Given the description of an element on the screen output the (x, y) to click on. 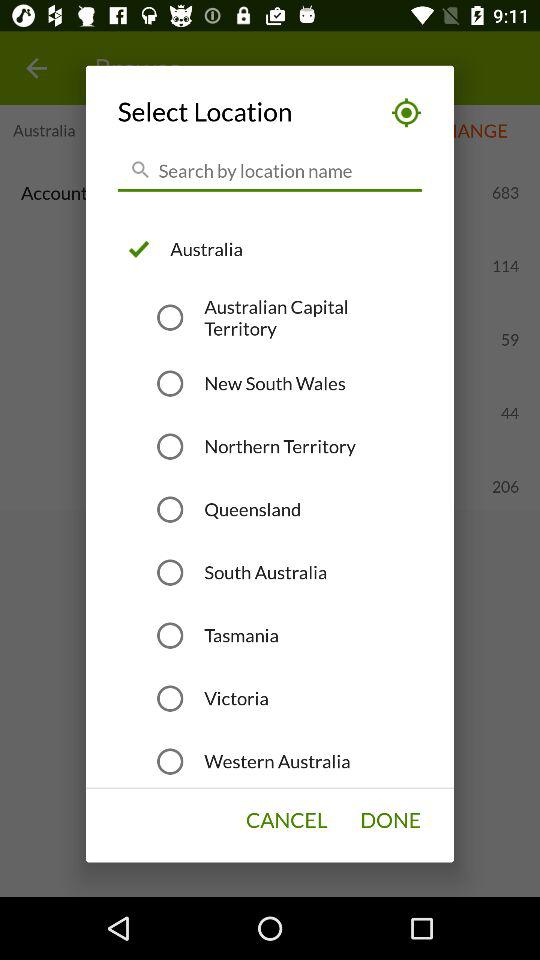
press item to the right of select location item (399, 112)
